Given the description of an element on the screen output the (x, y) to click on. 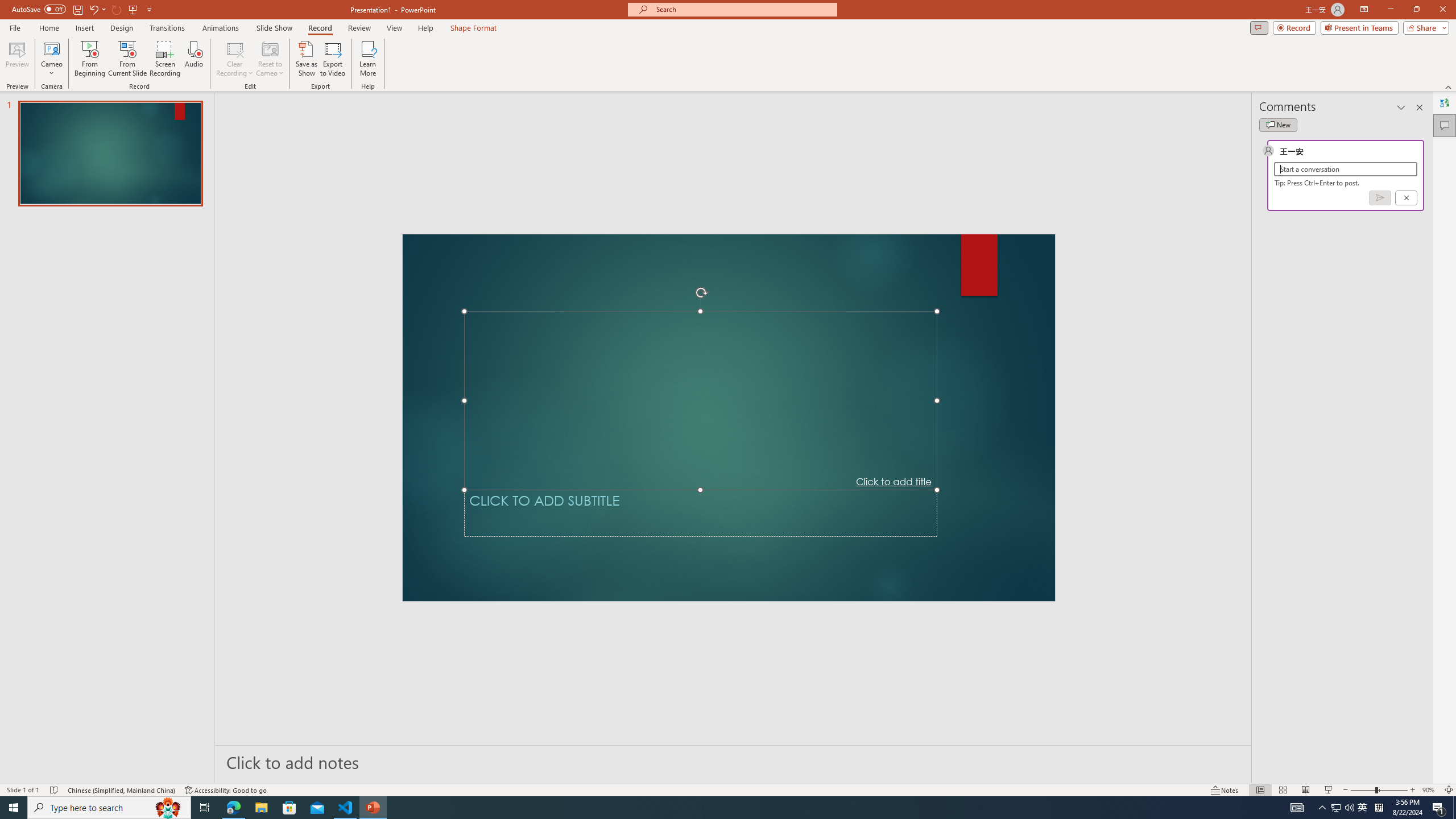
Zoom 90% (1430, 790)
